Given the description of an element on the screen output the (x, y) to click on. 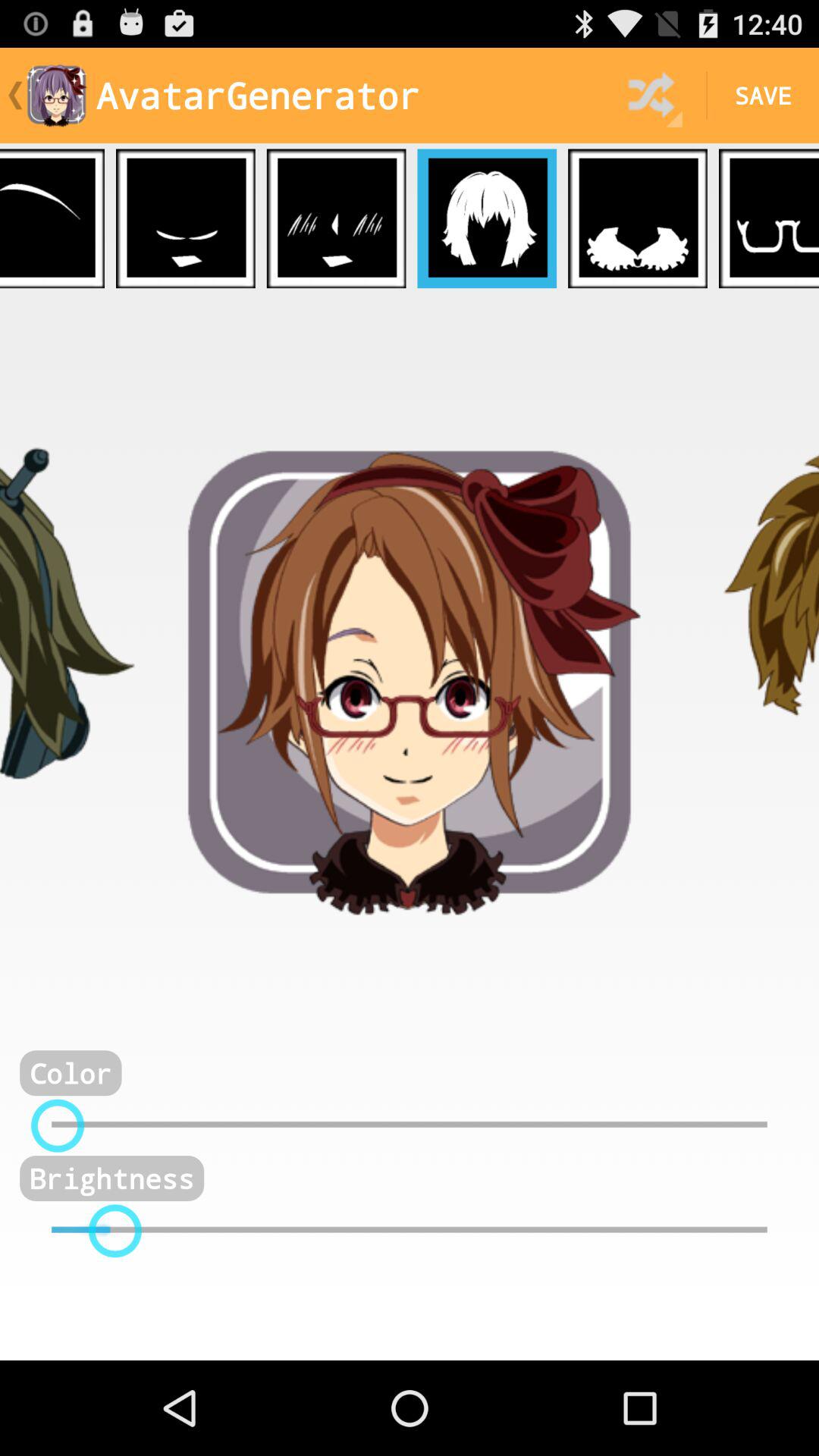
apply this expression to avatar (185, 218)
